Given the description of an element on the screen output the (x, y) to click on. 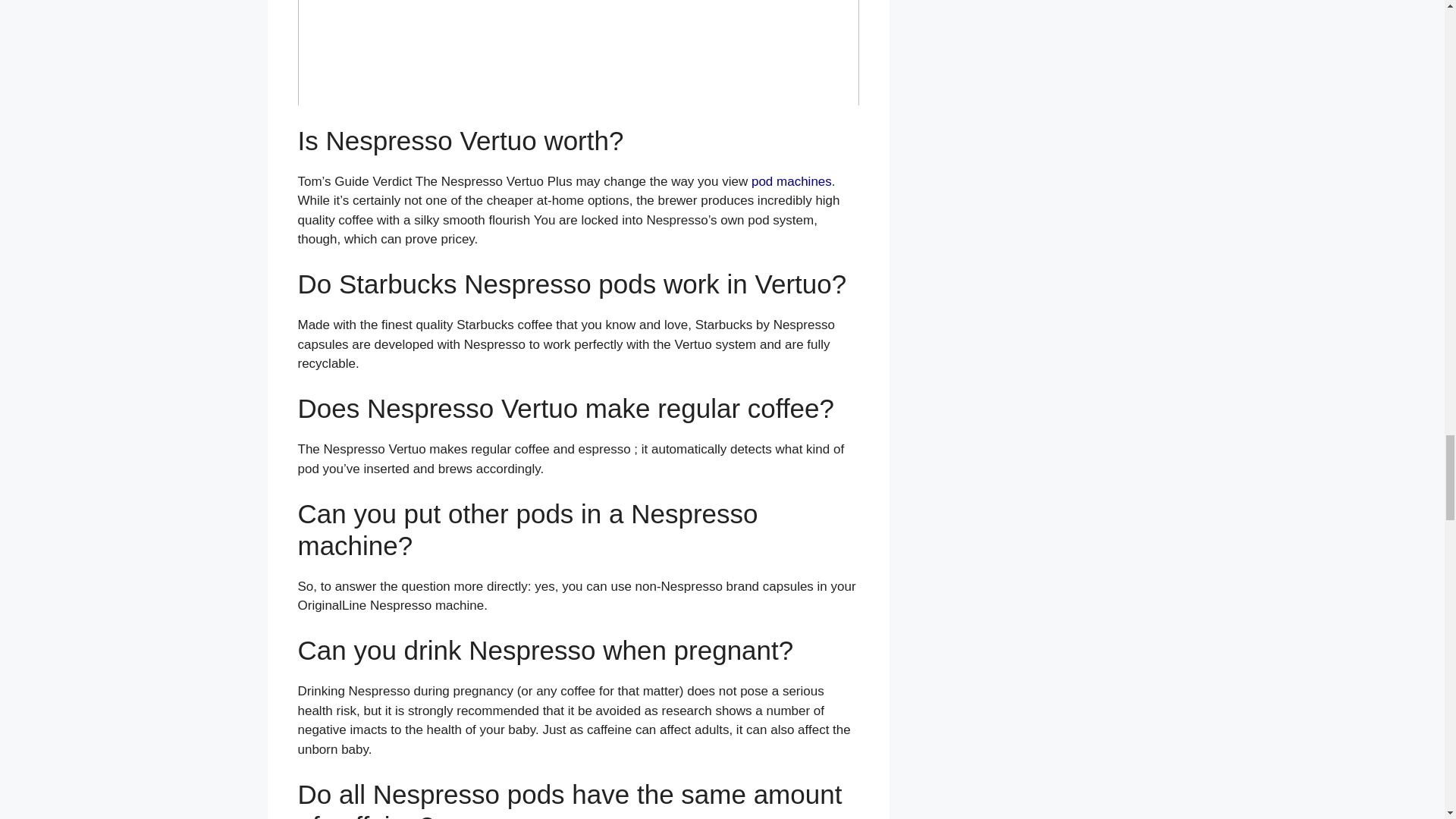
pod machines (791, 181)
